Given the description of an element on the screen output the (x, y) to click on. 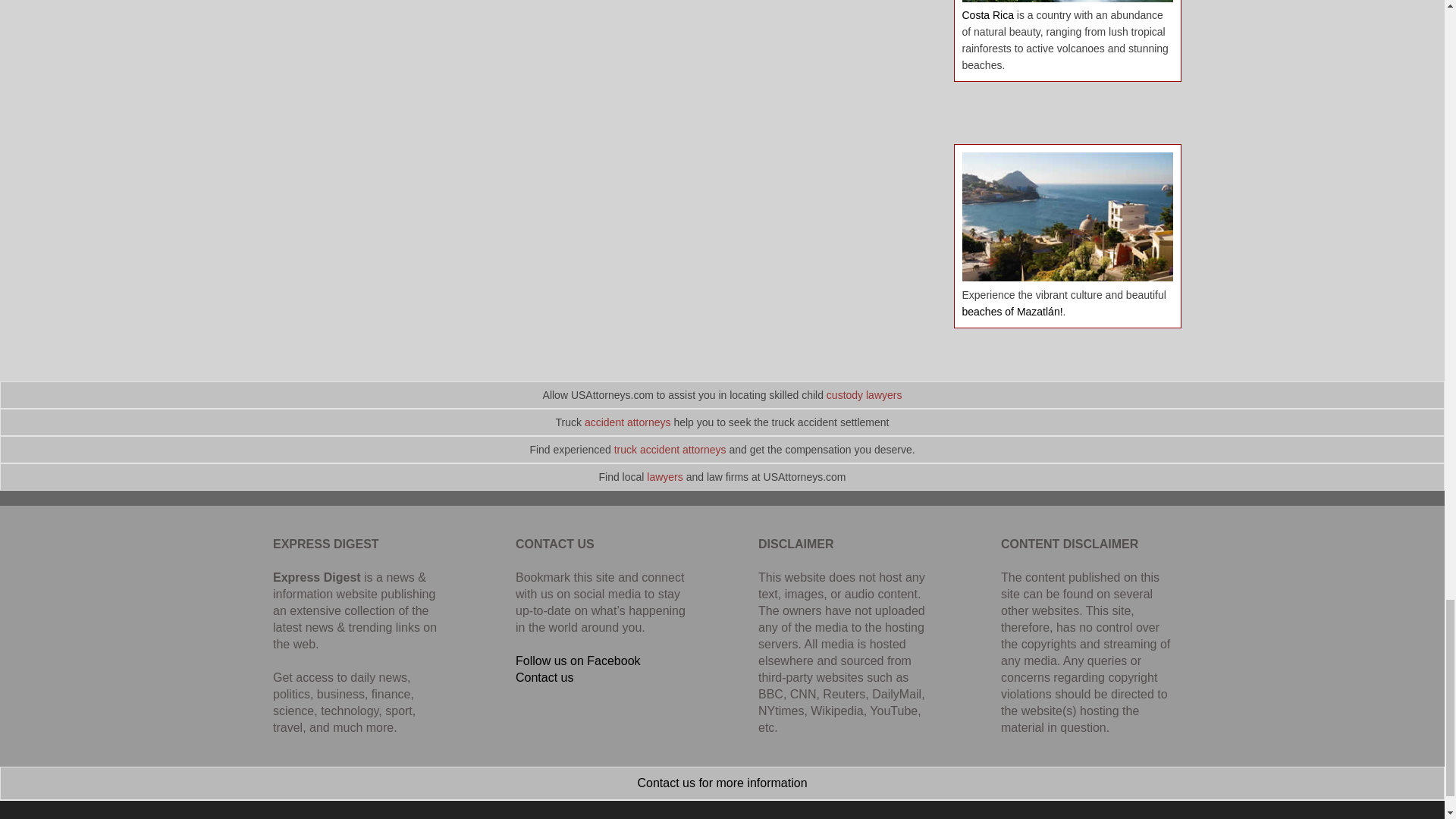
Costa Rica (986, 15)
accident attorneys (628, 422)
custody lawyers (864, 395)
truck accident attorneys (670, 449)
lawyers (664, 476)
